Given the description of an element on the screen output the (x, y) to click on. 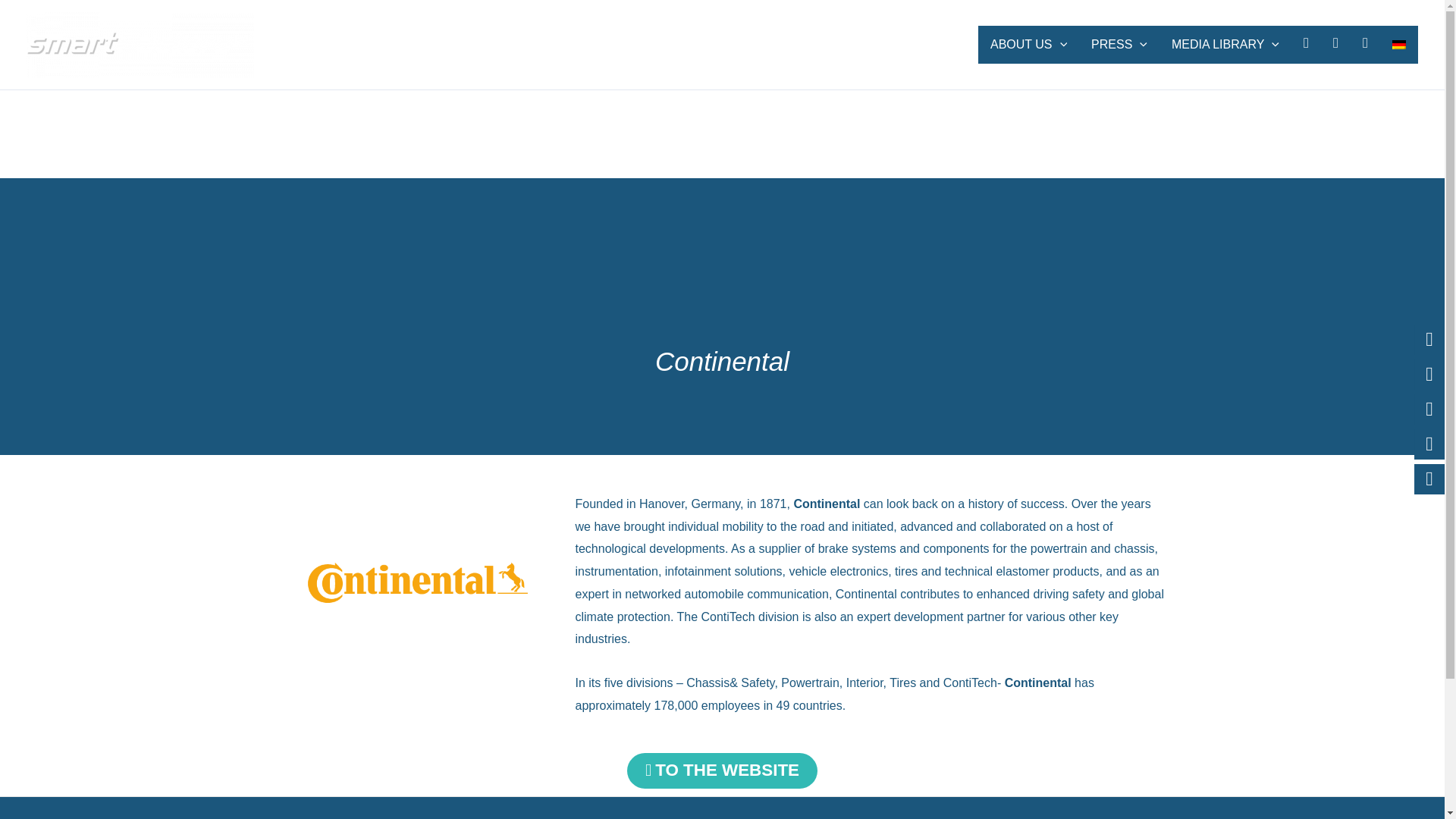
PRESS (1118, 44)
ABOUT US (1028, 44)
MEDIA LIBRARY (1224, 44)
